Given the description of an element on the screen output the (x, y) to click on. 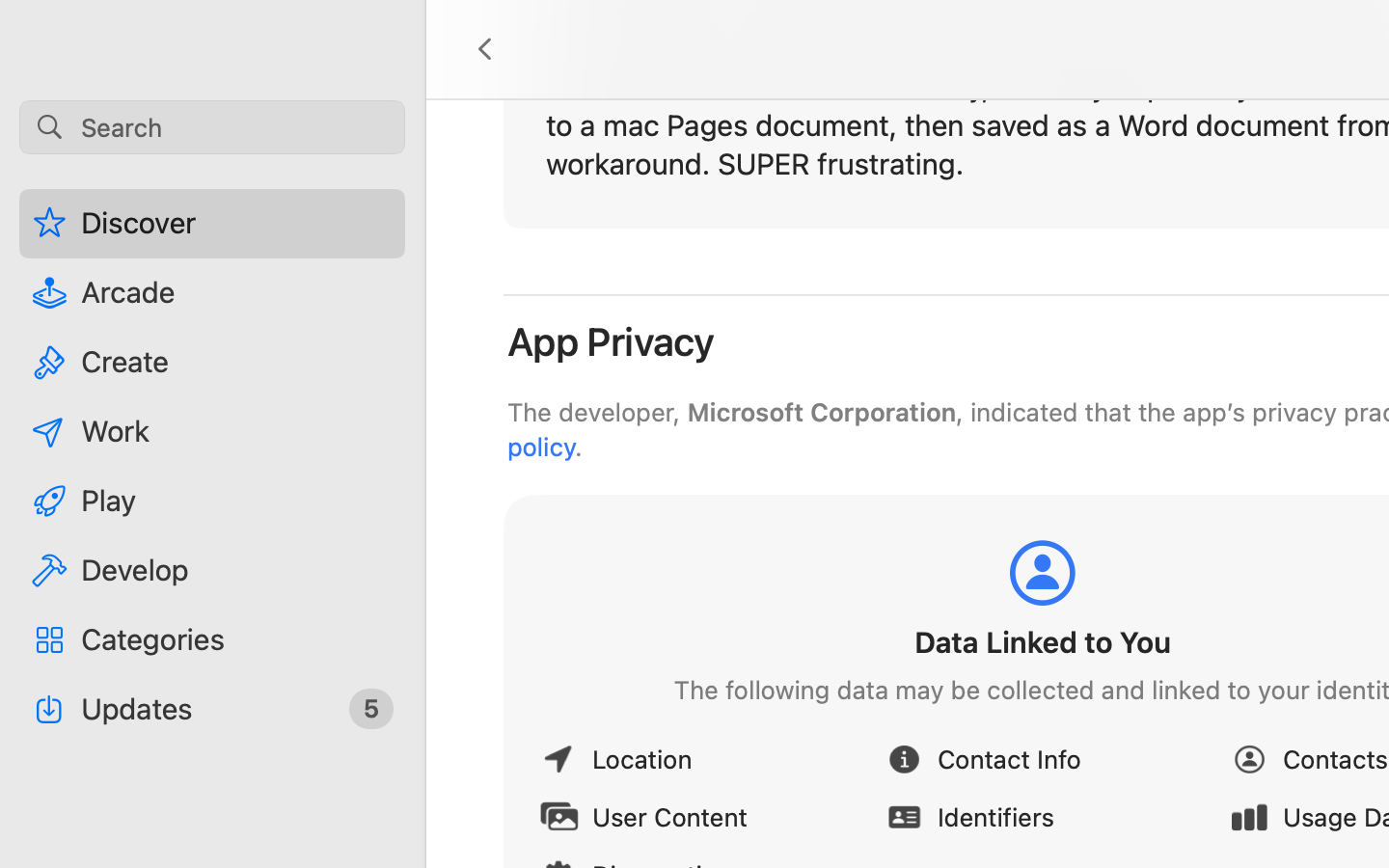
App Privacy Element type: AXStaticText (611, 341)
